Given the description of an element on the screen output the (x, y) to click on. 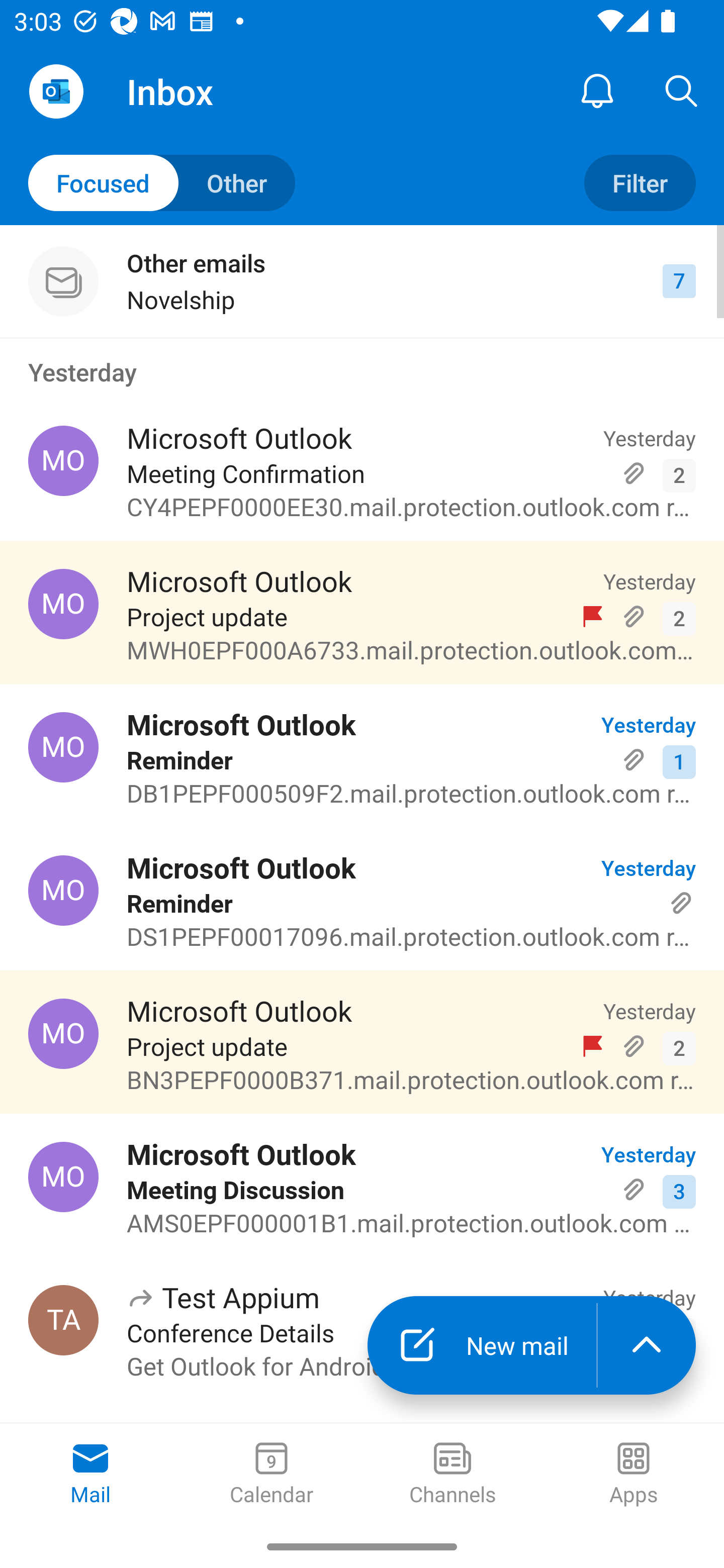
Notification Center (597, 90)
Search, ,  (681, 90)
Open Navigation Drawer (55, 91)
Toggle to other mails (161, 183)
Filter (639, 183)
Other emails Novelship 7 (362, 281)
Test Appium, testappium002@outlook.com (63, 1319)
New mail (481, 1344)
launch the extended action menu (646, 1344)
Calendar (271, 1474)
Channels (452, 1474)
Apps (633, 1474)
